Given the description of an element on the screen output the (x, y) to click on. 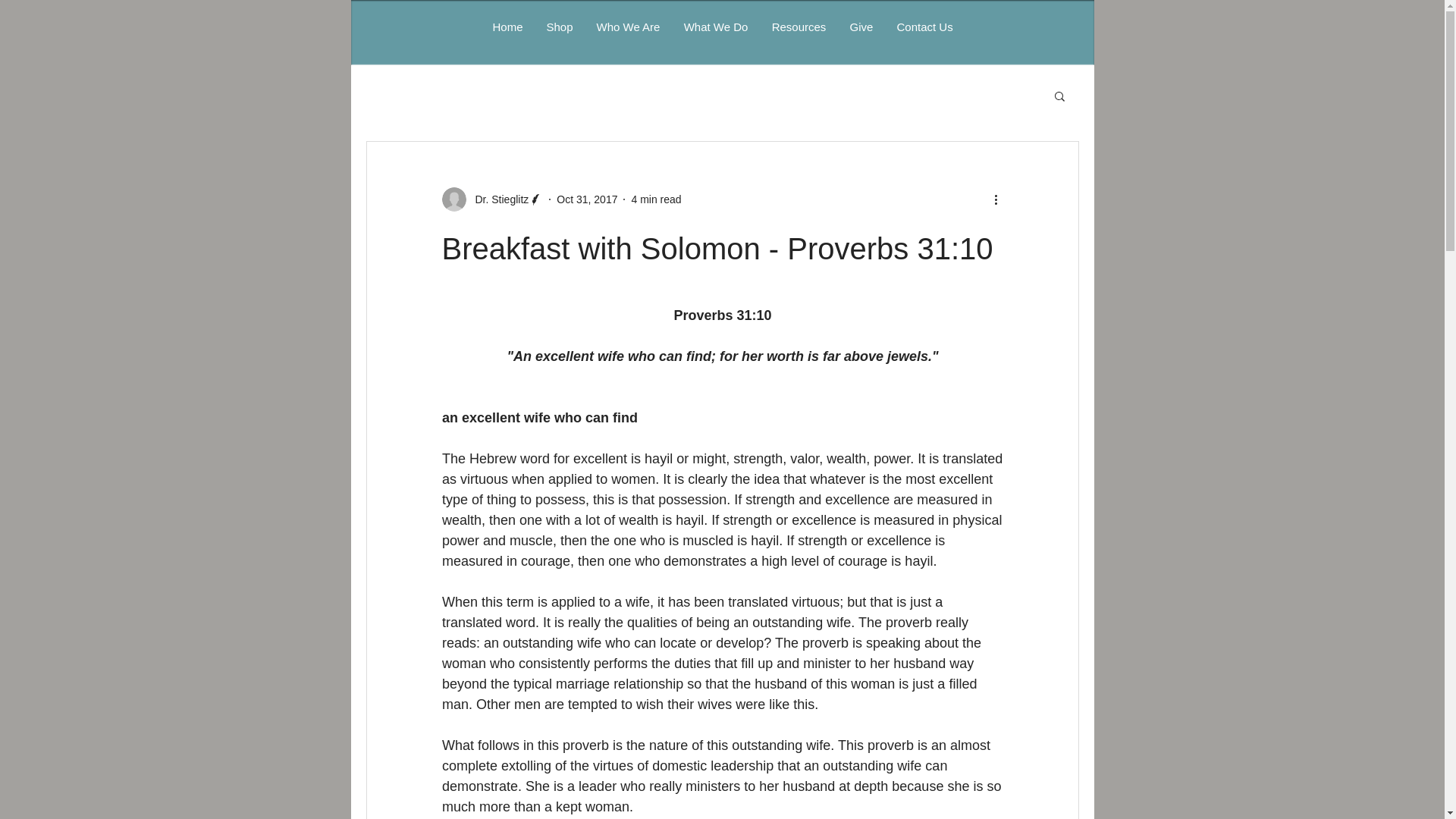
Who We Are (627, 26)
Resources (799, 26)
Give (860, 26)
Oct 31, 2017 (586, 198)
4 min read (655, 198)
Shop (558, 26)
Contact Us (923, 26)
Home (507, 26)
Dr. Stieglitz (496, 198)
